Given the description of an element on the screen output the (x, y) to click on. 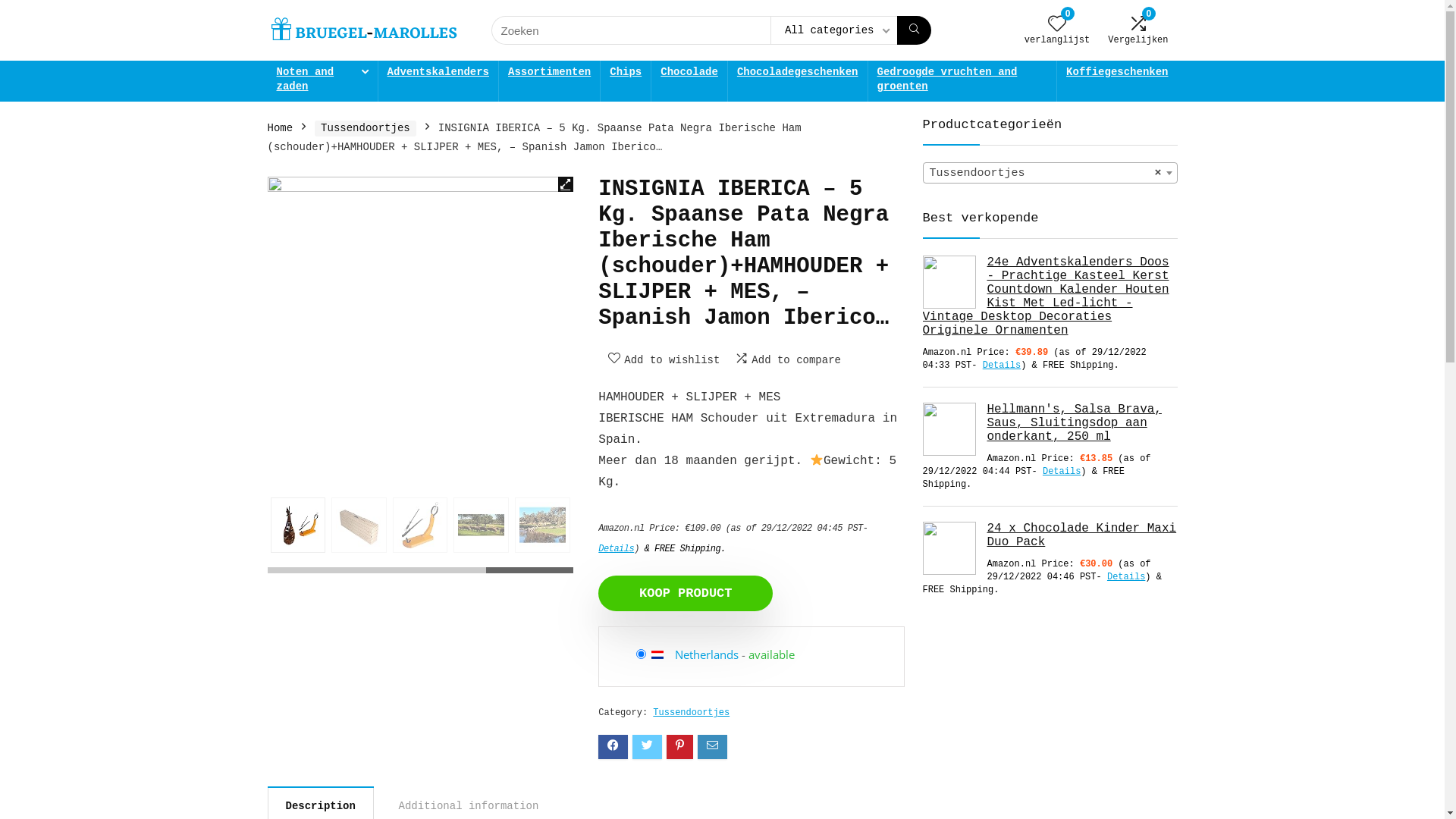
Chocoladegeschenken Element type: text (797, 73)
24 x Chocolade Kinder Maxi Duo Pack Element type: text (1049, 535)
Home Element type: text (279, 128)
Chocolade Element type: text (689, 73)
Netherlands Element type: text (706, 654)
Assortimenten Element type: text (548, 73)
Noten and zaden Element type: text (321, 80)
Gedroogde vruchten and groenten Element type: text (962, 80)
Koffiegeschenken Element type: text (1116, 73)
Details Element type: text (615, 548)
Tussendoortjes Element type: text (690, 712)
0 Element type: text (1057, 25)
Netherlands Element type: hover (662, 654)
Chips Element type: text (625, 73)
KOOP PRODUCT Element type: text (685, 593)
Adventskalenders Element type: text (438, 73)
Details Element type: text (1126, 576)
Details Element type: text (1001, 365)
Tussendoortjes Element type: text (365, 128)
Details Element type: text (1061, 471)
